Given the description of an element on the screen output the (x, y) to click on. 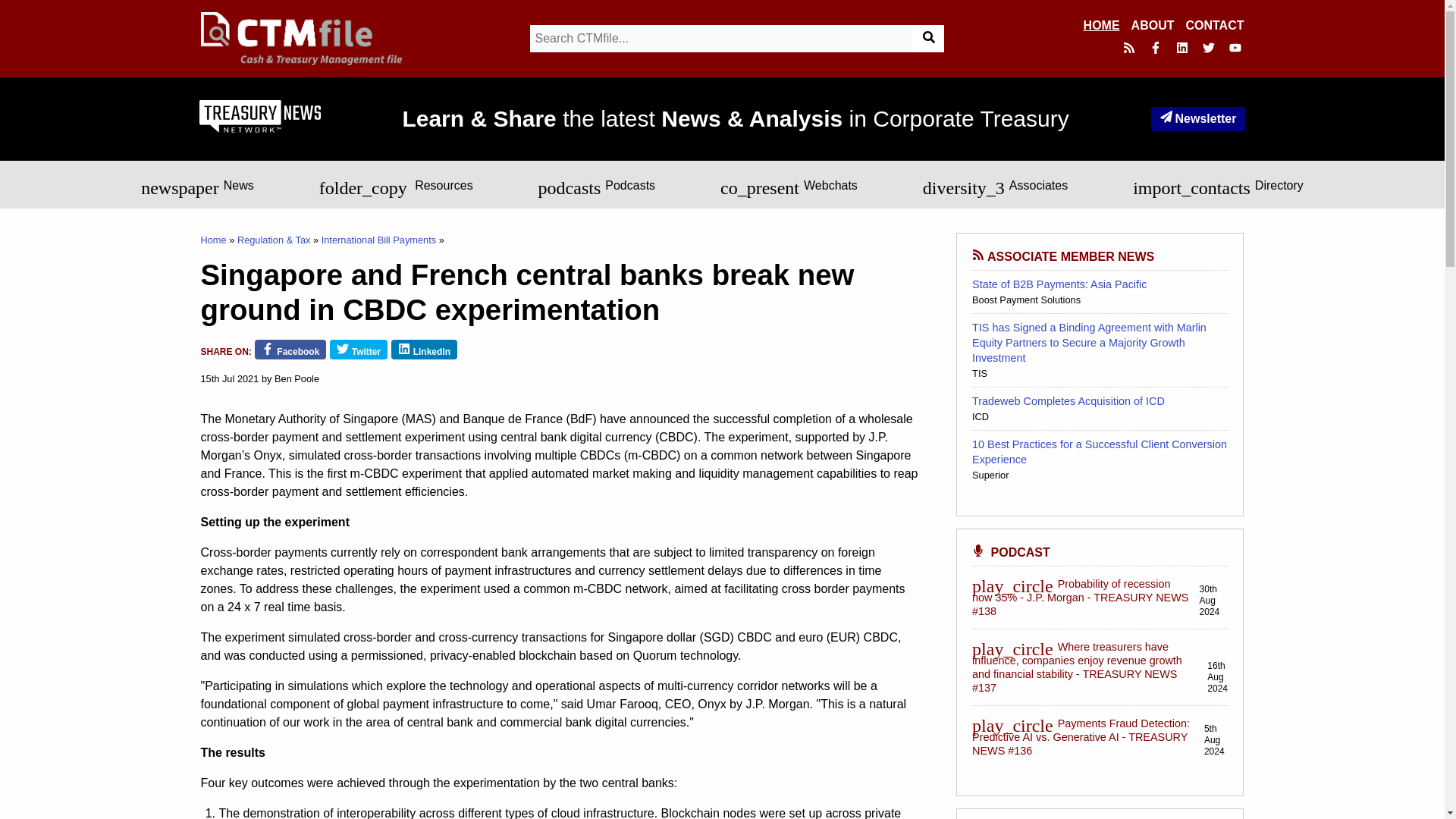
ABOUT (1152, 25)
HOME (1101, 25)
CONTACT (1214, 25)
